Given the description of an element on the screen output the (x, y) to click on. 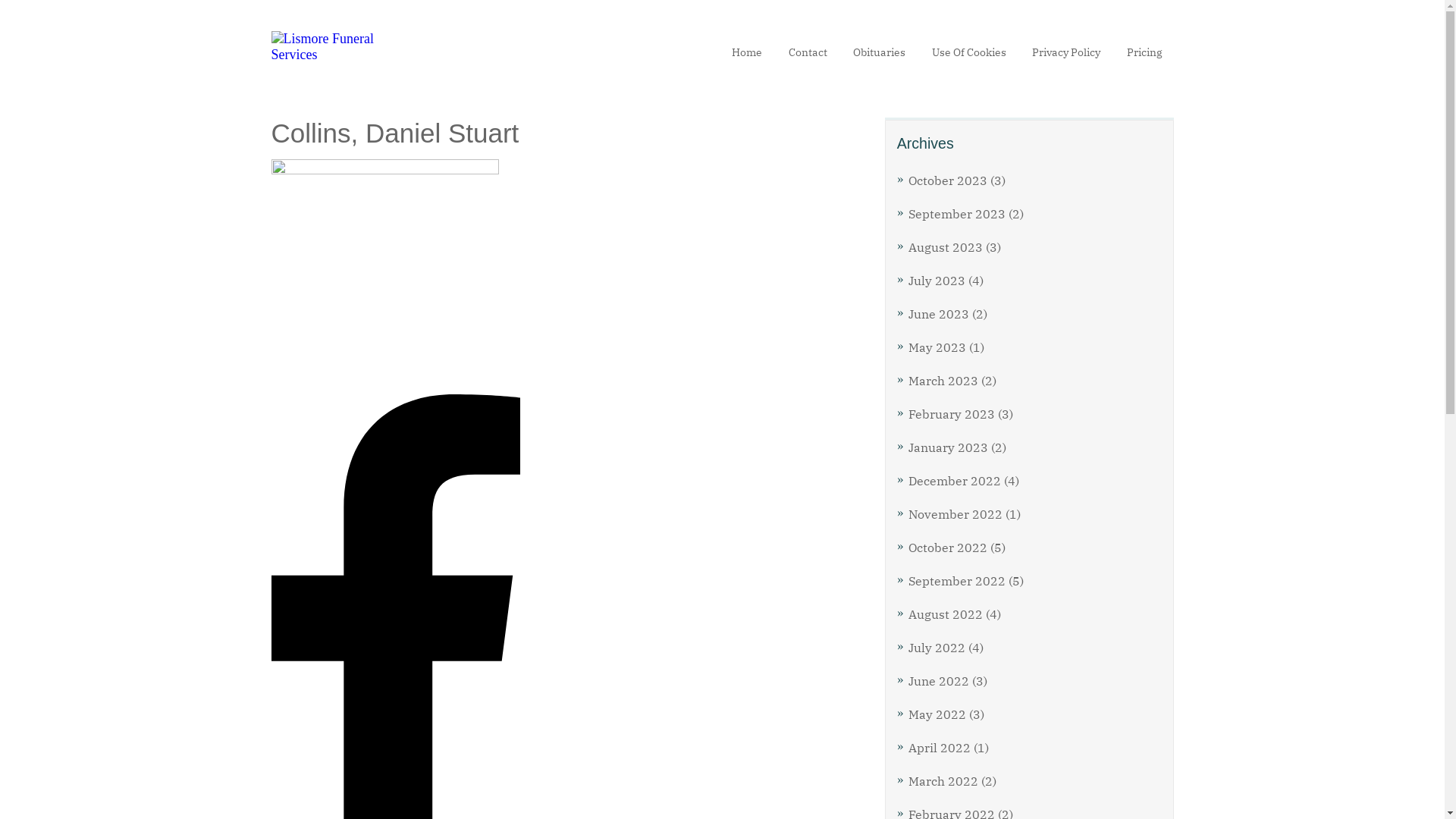
Use Of Cookies Element type: text (968, 52)
August 2023 Element type: text (945, 246)
HANDS Element type: hover (384, 272)
June 2022 Element type: text (938, 680)
September 2023 Element type: text (956, 213)
July 2023 Element type: text (936, 280)
October 2023 Element type: text (947, 180)
March 2023 Element type: text (943, 380)
Pricing Element type: text (1144, 52)
June 2023 Element type: text (938, 313)
October 2022 Element type: text (947, 547)
December 2022 Element type: text (954, 480)
Home Element type: text (746, 52)
September 2022 Element type: text (956, 580)
May 2022 Element type: text (937, 713)
January 2023 Element type: text (948, 447)
Contact Element type: text (807, 52)
April 2022 Element type: text (939, 747)
Privacy Policy Element type: text (1066, 52)
March 2022 Element type: text (943, 780)
February 2023 Element type: text (951, 413)
Obituaries Element type: text (879, 52)
July 2022 Element type: text (936, 647)
August 2022 Element type: text (945, 613)
May 2023 Element type: text (937, 346)
November 2022 Element type: text (955, 513)
